Given the description of an element on the screen output the (x, y) to click on. 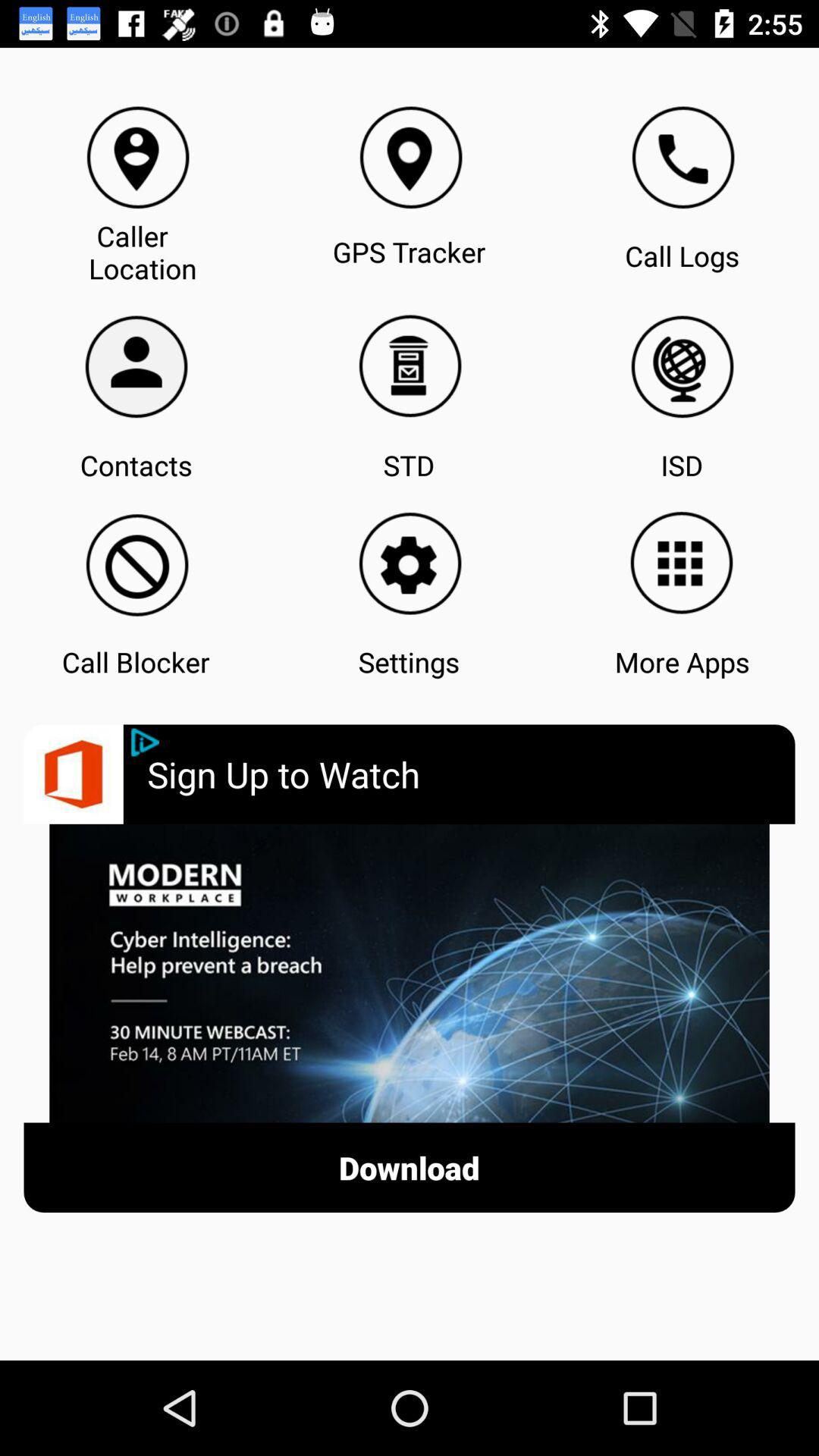
view options for this add (145, 742)
